Given the description of an element on the screen output the (x, y) to click on. 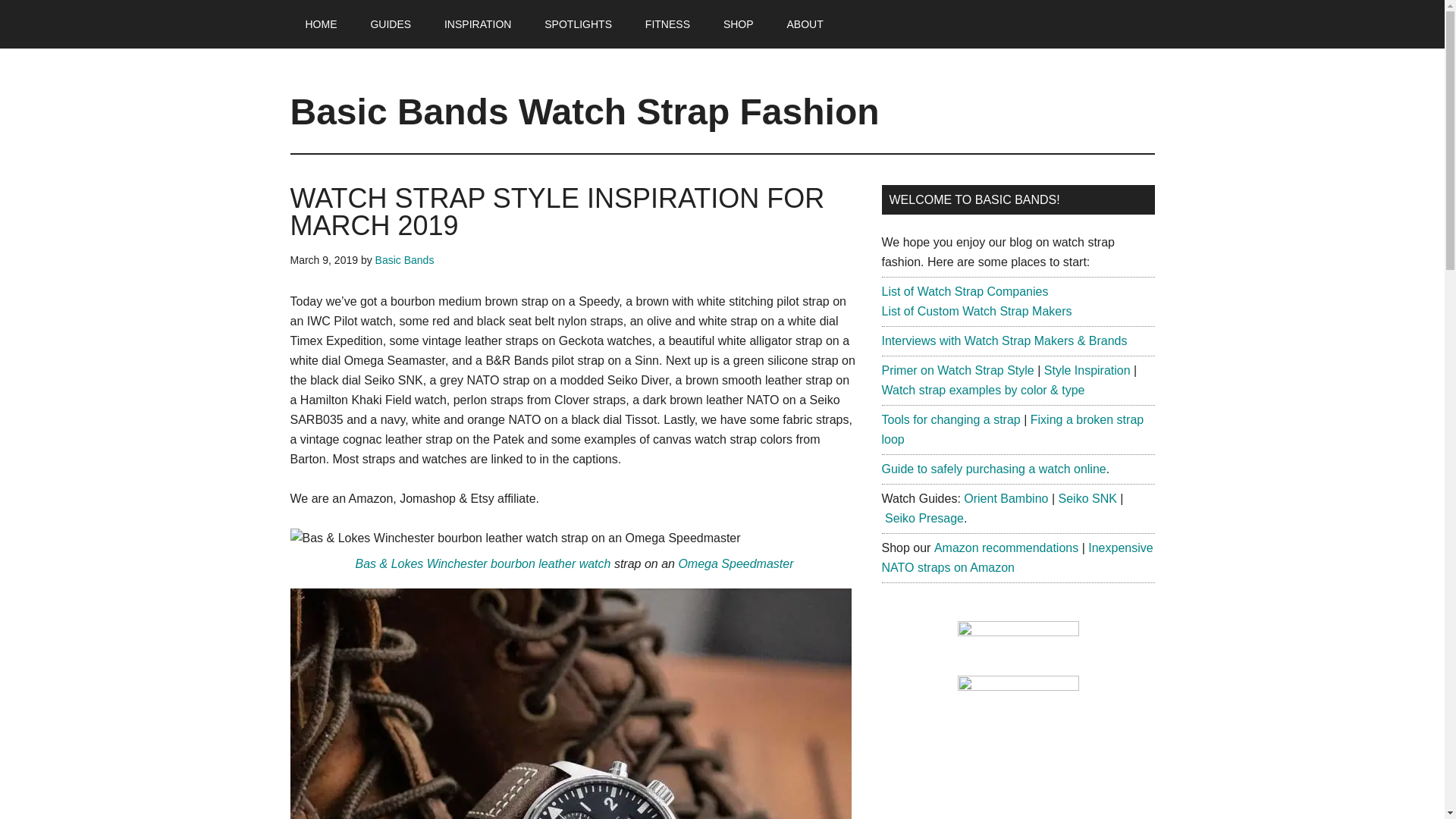
HOME (320, 24)
ABOUT (804, 24)
Basic Bands Watch Strap Fashion (584, 111)
INSPIRATION (477, 24)
SHOP (737, 24)
Omega Speedmaster (735, 563)
SPOTLIGHTS (578, 24)
GUIDES (390, 24)
Basic Bands (404, 259)
